Given the description of an element on the screen output the (x, y) to click on. 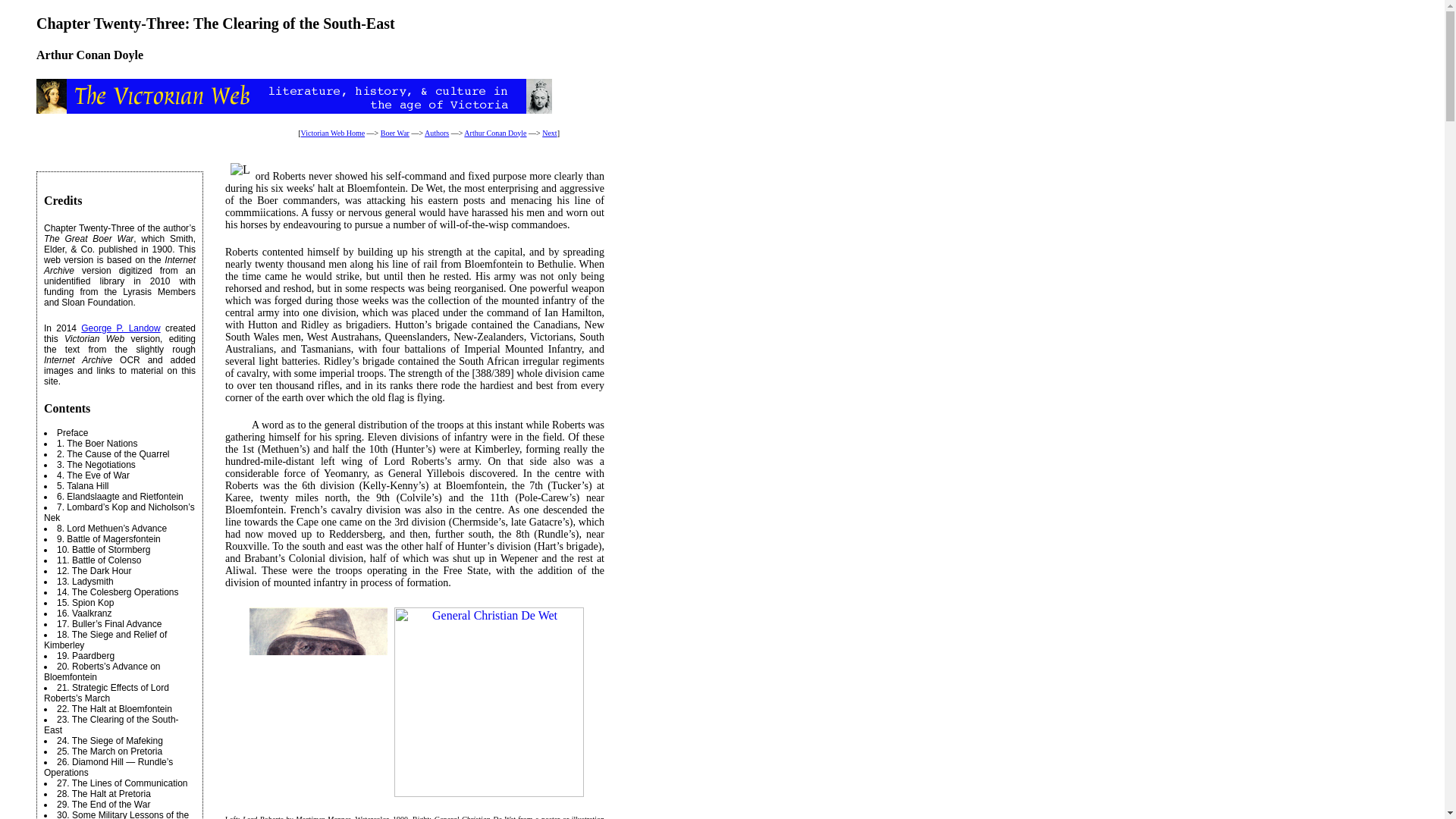
Authors (436, 132)
9. Battle of Magersfontein (108, 538)
6. Elandslaagte and Rietfontein (119, 496)
10. Battle of Stormberg (102, 549)
5. Talana Hill (81, 485)
4. The Eve of War (92, 475)
23. The Clearing of the South-East (111, 724)
16. Vaalkranz (84, 613)
Boer War (394, 132)
24. The Siege of Mafeking (109, 740)
